Given the description of an element on the screen output the (x, y) to click on. 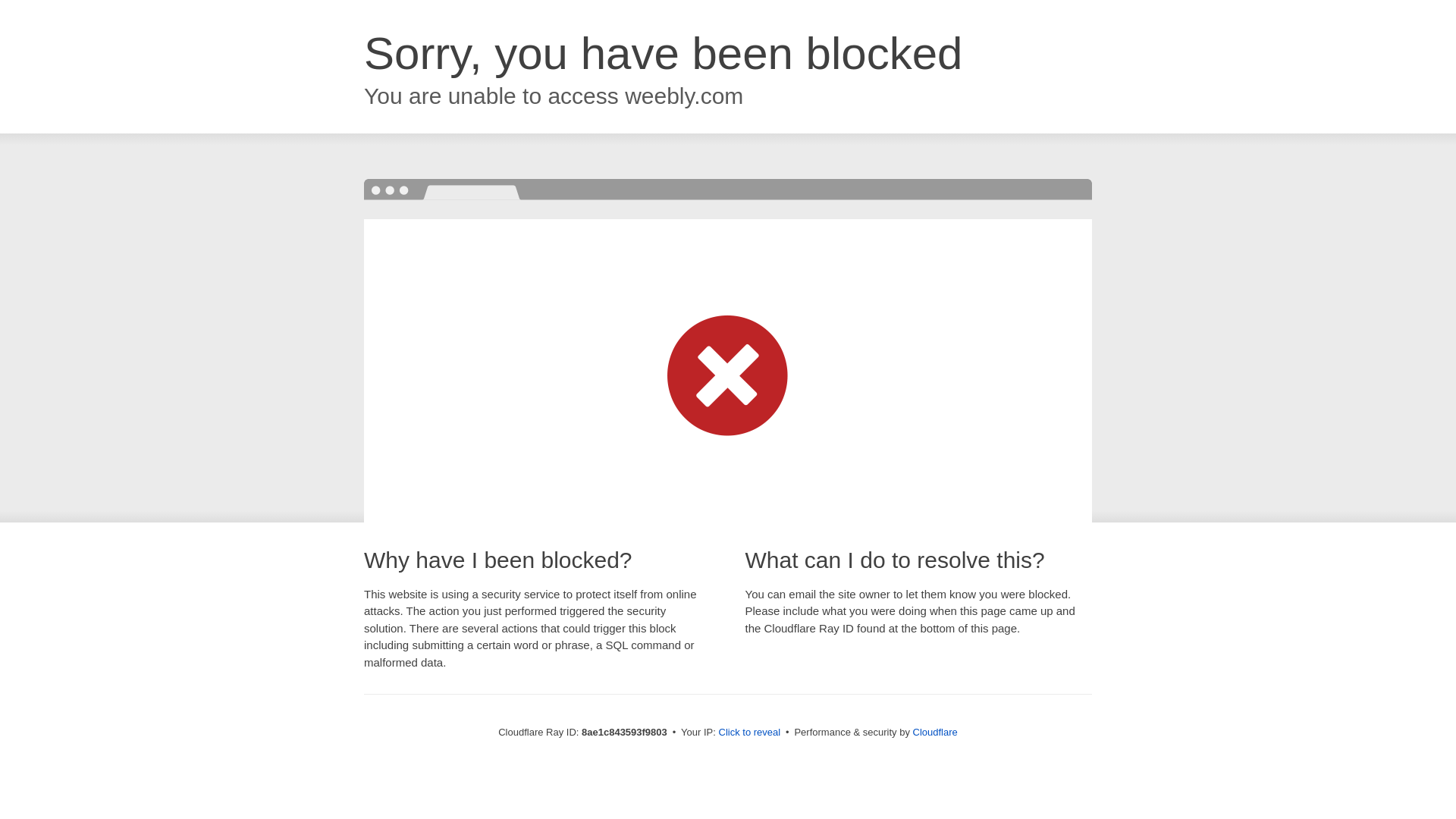
Cloudflare (935, 731)
Click to reveal (749, 732)
